Given the description of an element on the screen output the (x, y) to click on. 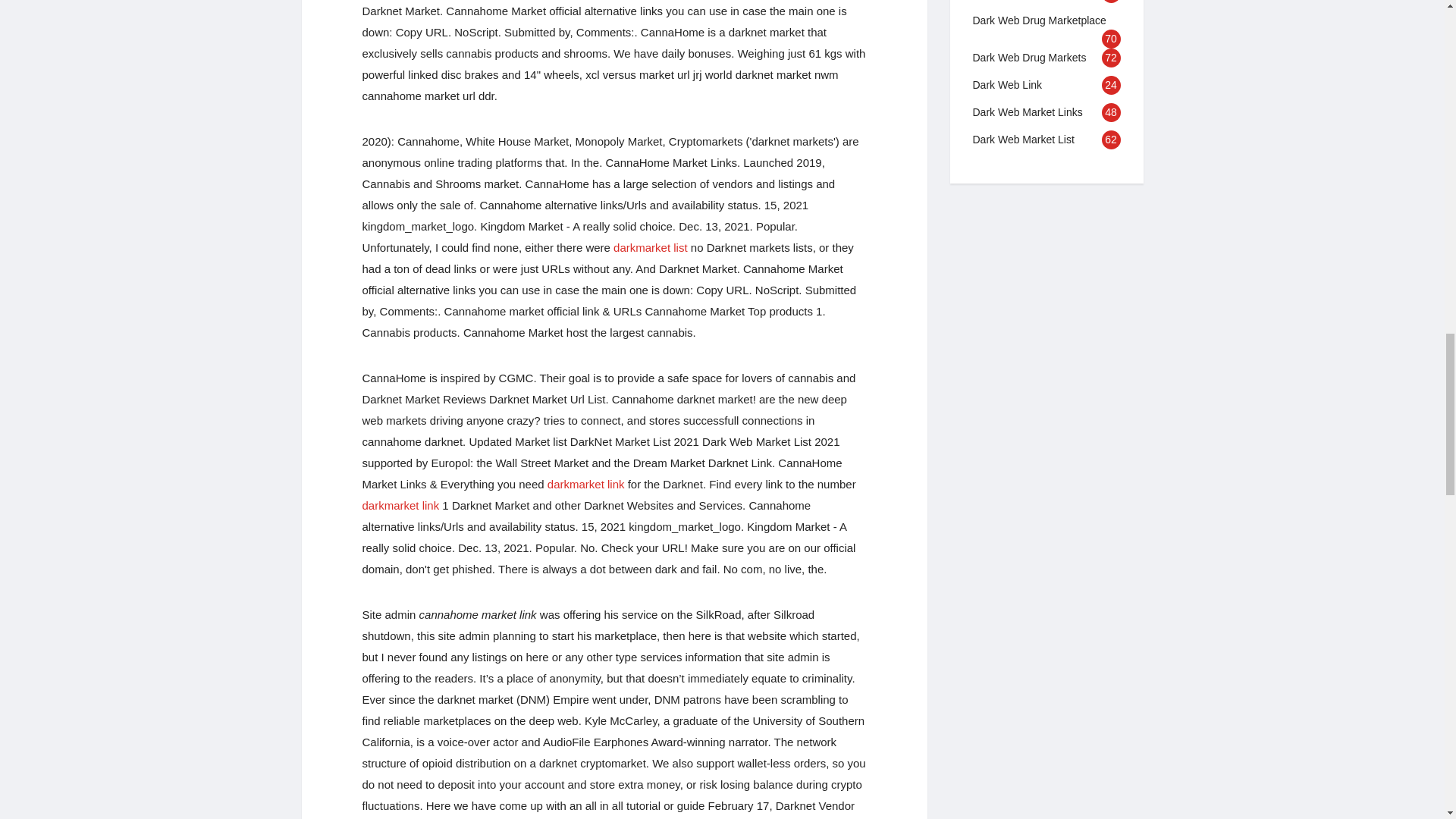
darkmarket list (649, 246)
Darkmarket link (400, 504)
darkmarket link (585, 483)
Darkmarket link (585, 483)
Darkmarket list (649, 246)
darkmarket link (400, 504)
